Given the description of an element on the screen output the (x, y) to click on. 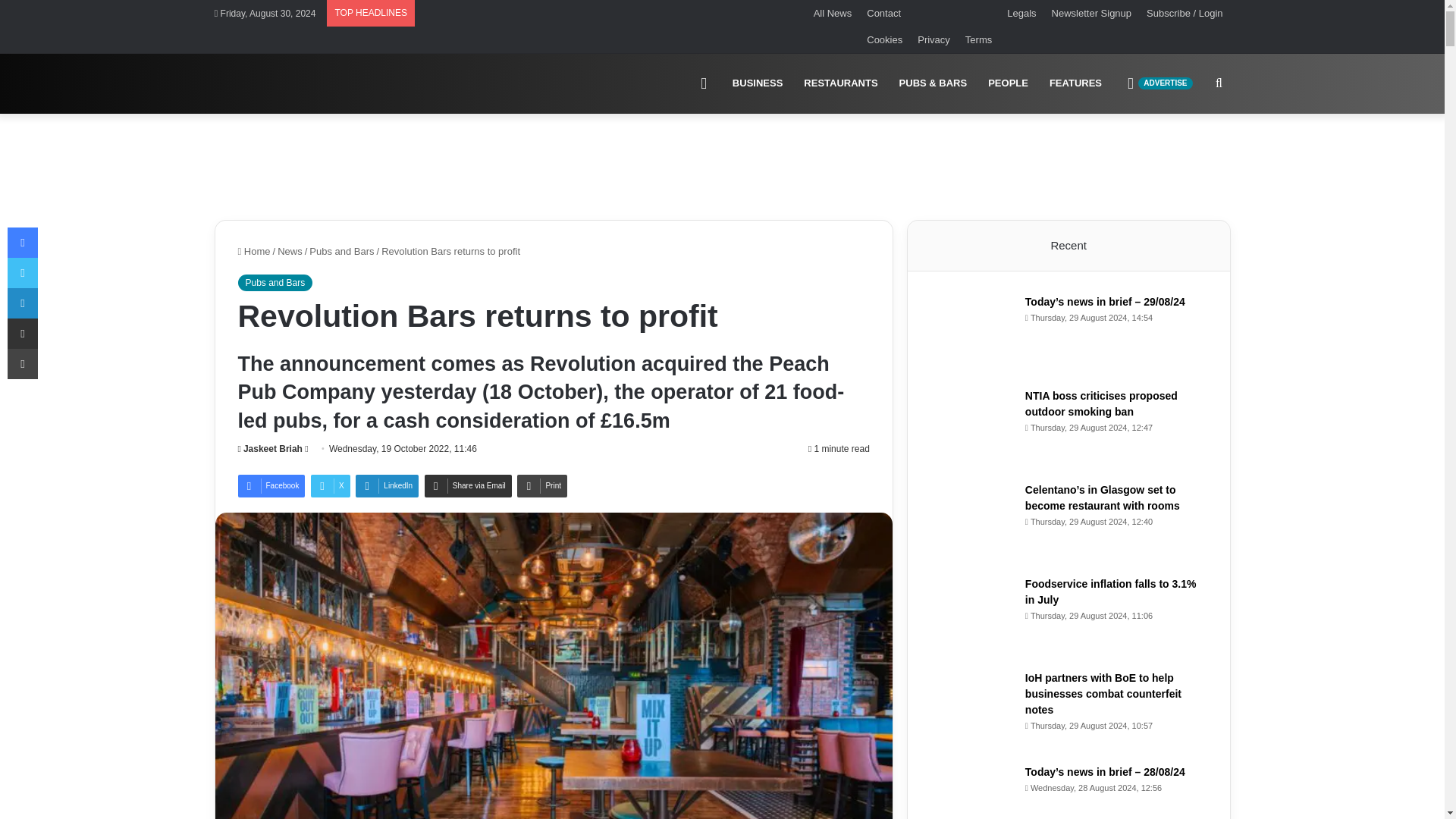
Contact (928, 13)
Share via Email (1159, 83)
Terms (468, 486)
Catering Today (978, 39)
LinkedIn (1007, 83)
RESTAURANTS (387, 486)
Print (840, 83)
Newsletter Signup (541, 486)
